Given the description of an element on the screen output the (x, y) to click on. 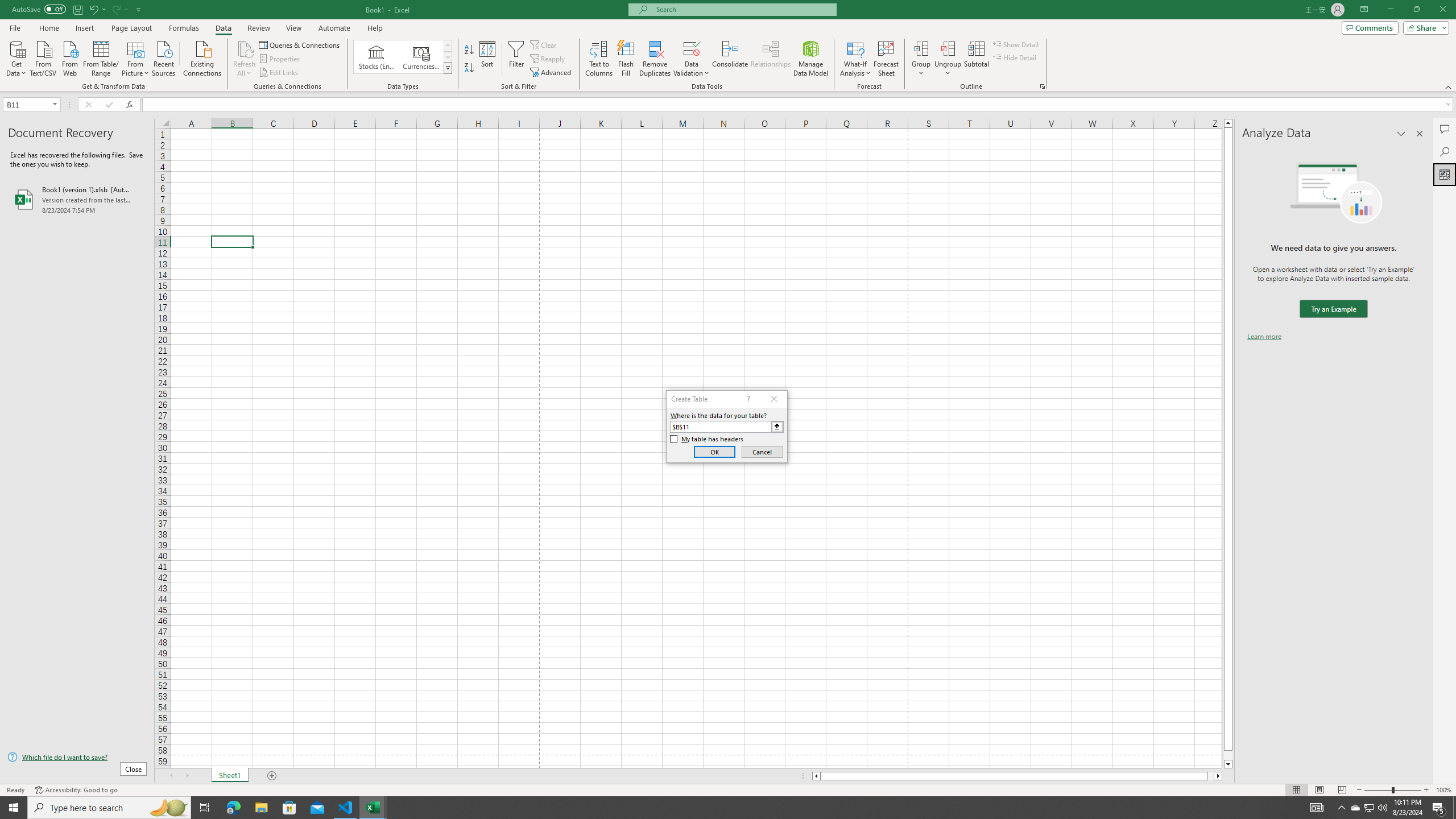
Get Data (16, 57)
Data Validation... (691, 58)
Advanced... (551, 72)
Restore Down (1416, 9)
Manage Data Model (810, 58)
Learn more (1264, 336)
Page down (1228, 755)
Remove Duplicates (654, 58)
Microsoft search (742, 9)
Refresh All (244, 58)
Ungroup... (947, 58)
